Given the description of an element on the screen output the (x, y) to click on. 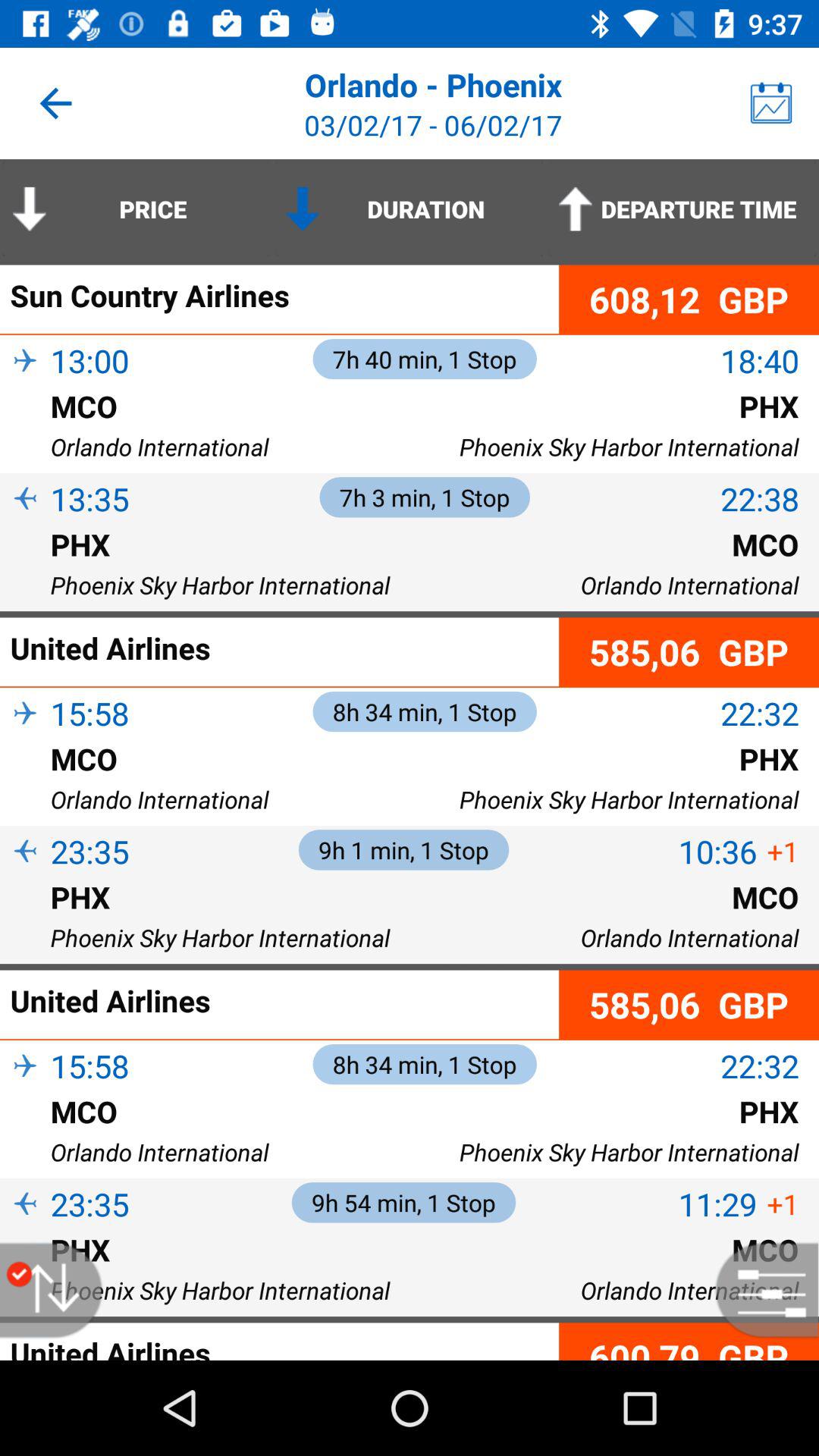
open the item next to 13:00 item (25, 386)
